Given the description of an element on the screen output the (x, y) to click on. 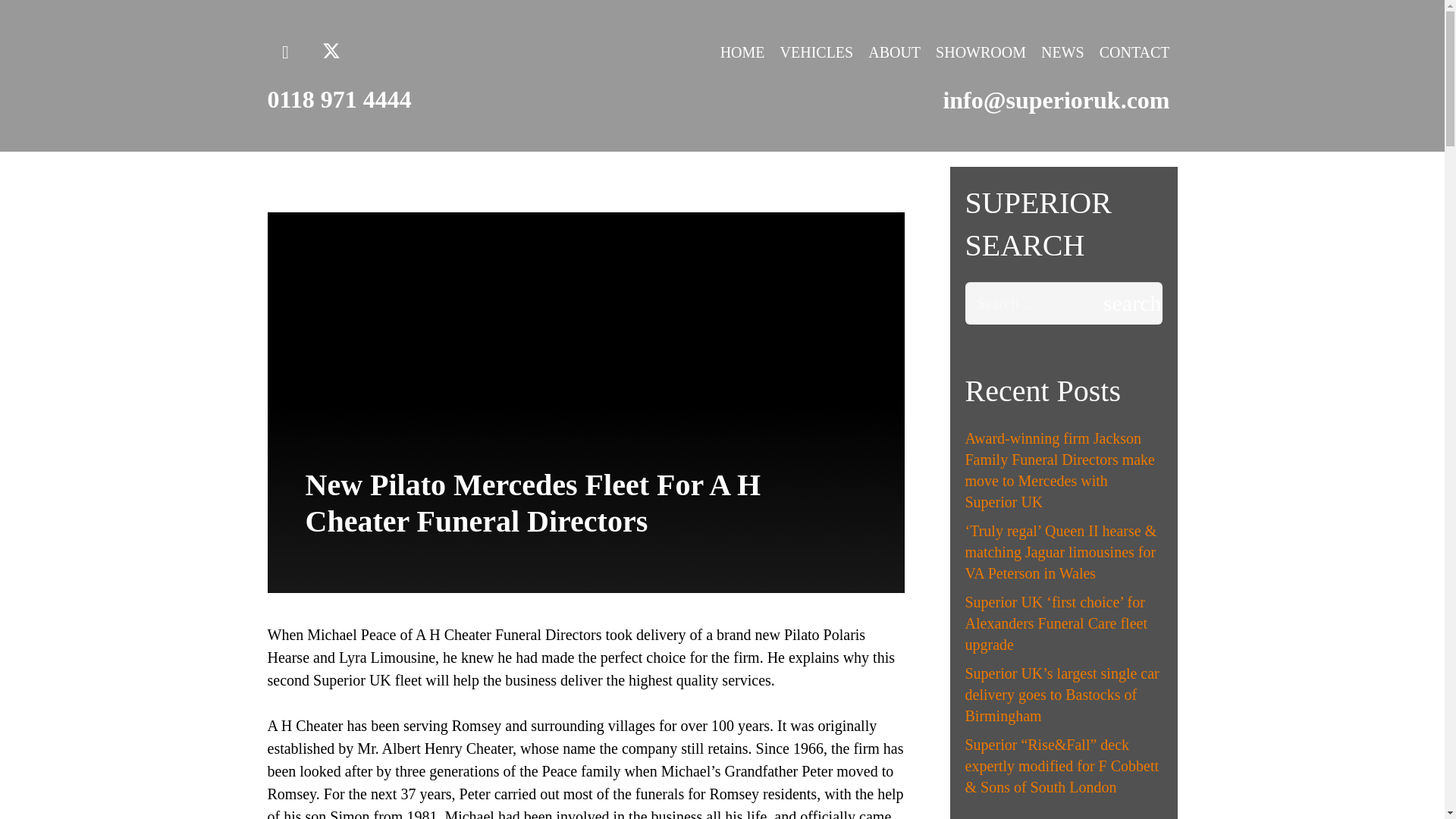
SHOWROOM (980, 52)
ABOUT (894, 52)
Facebook (284, 52)
CONTACT (1134, 52)
NEWS (1062, 52)
Search (1115, 302)
Twitter (331, 52)
0118 971 4444 (338, 99)
VEHICLES (817, 52)
HOME (743, 52)
